Given the description of an element on the screen output the (x, y) to click on. 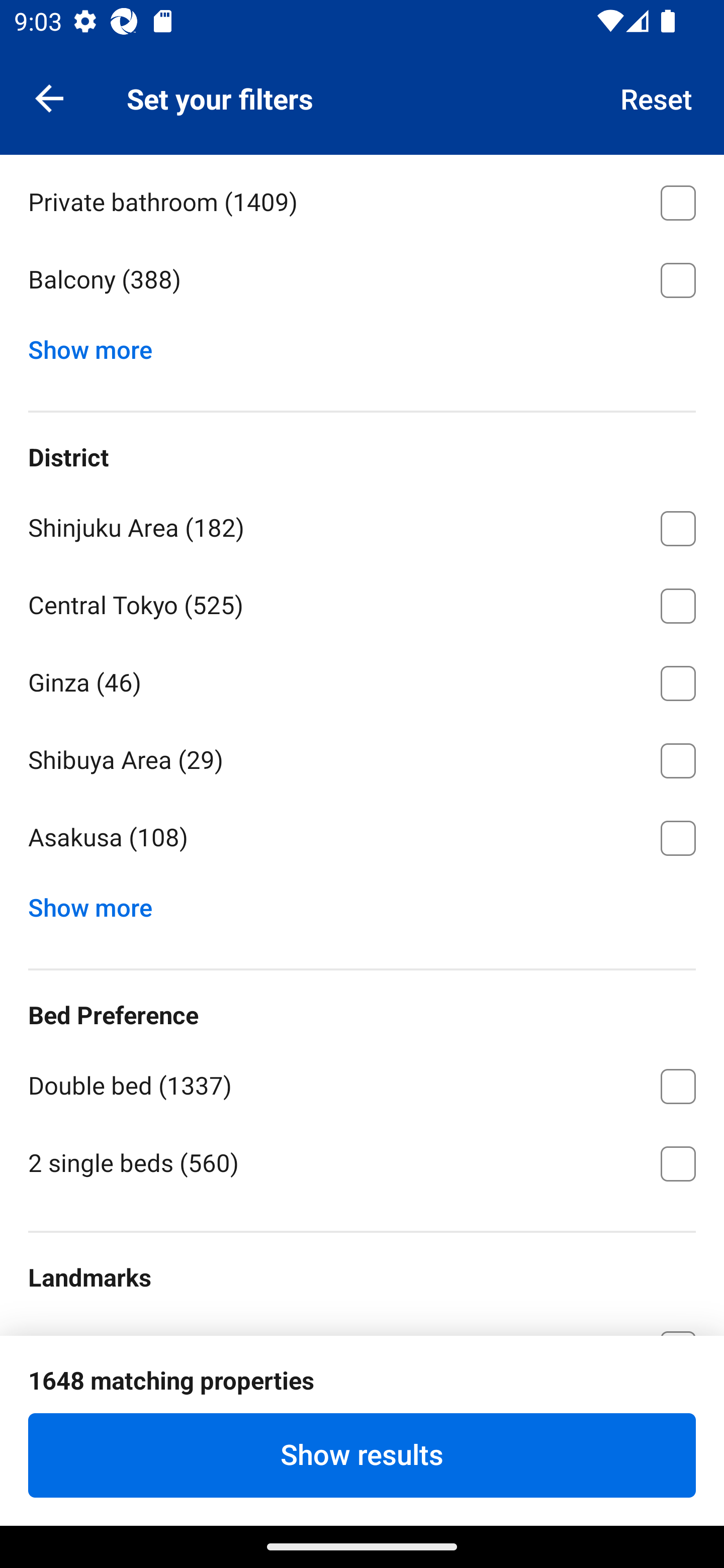
Navigate up (49, 97)
Reset (656, 97)
Private bathroom ⁦(1409) (361, 199)
Balcony ⁦(388) (361, 280)
Show more (97, 345)
Shinjuku Area ⁦(182) (361, 525)
Central Tokyo ⁦(525) (361, 602)
Ginza ⁦(46) (361, 679)
Shibuya Area ⁦(29) (361, 757)
Asakusa ⁦(108) (361, 838)
Show more (97, 903)
Double bed ⁦(1337) (361, 1082)
2 single beds ⁦(560) (361, 1161)
Show results (361, 1454)
